Given the description of an element on the screen output the (x, y) to click on. 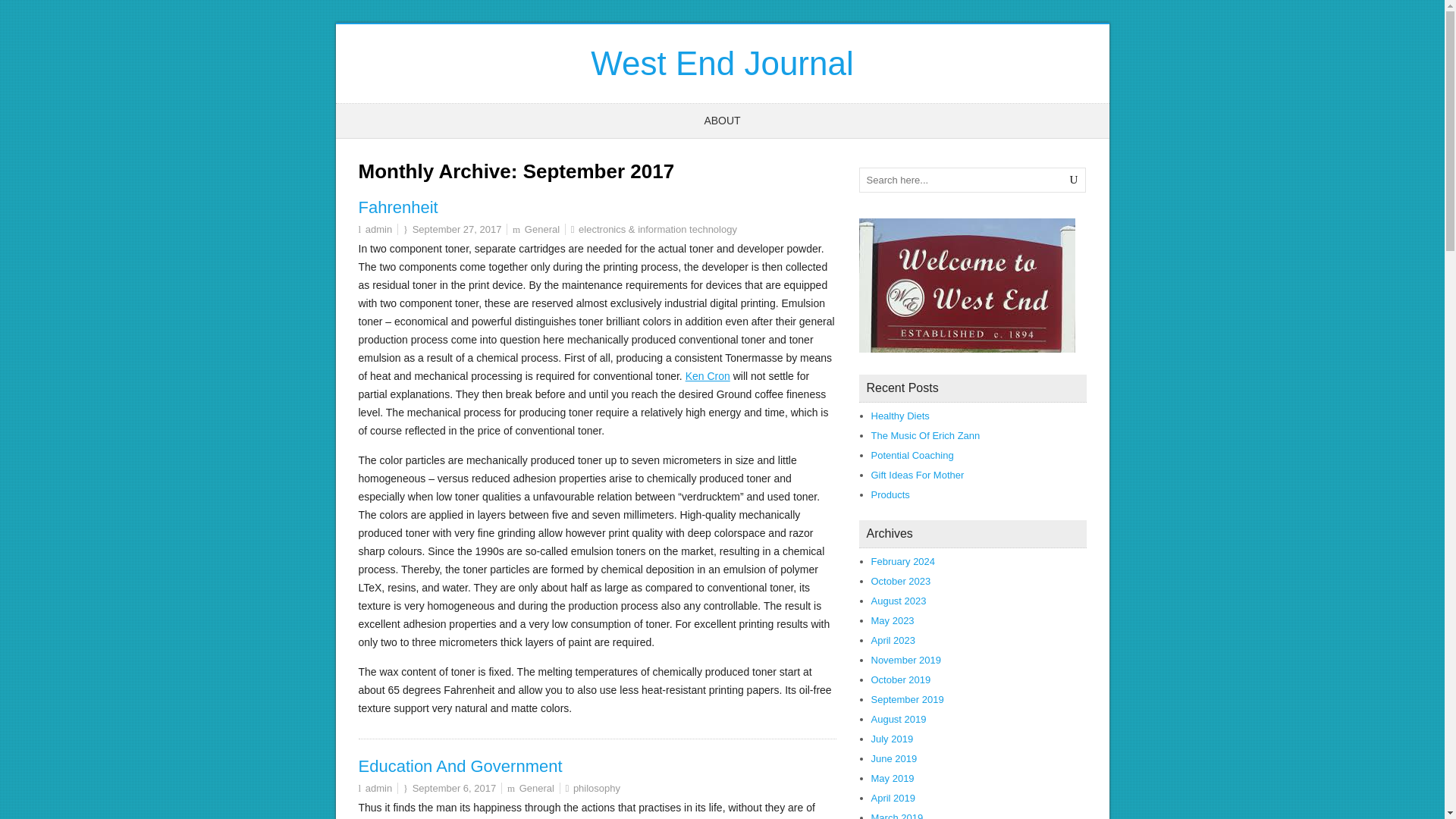
September 27, 2017 (457, 229)
The Music Of Erich Zann (924, 435)
admin (378, 229)
Fahrenheit (398, 207)
August 2019 (898, 718)
February 2024 (902, 561)
U (1073, 179)
West End Journal (722, 63)
August 2023 (898, 600)
Gift Ideas For Mother (916, 474)
